Given the description of an element on the screen output the (x, y) to click on. 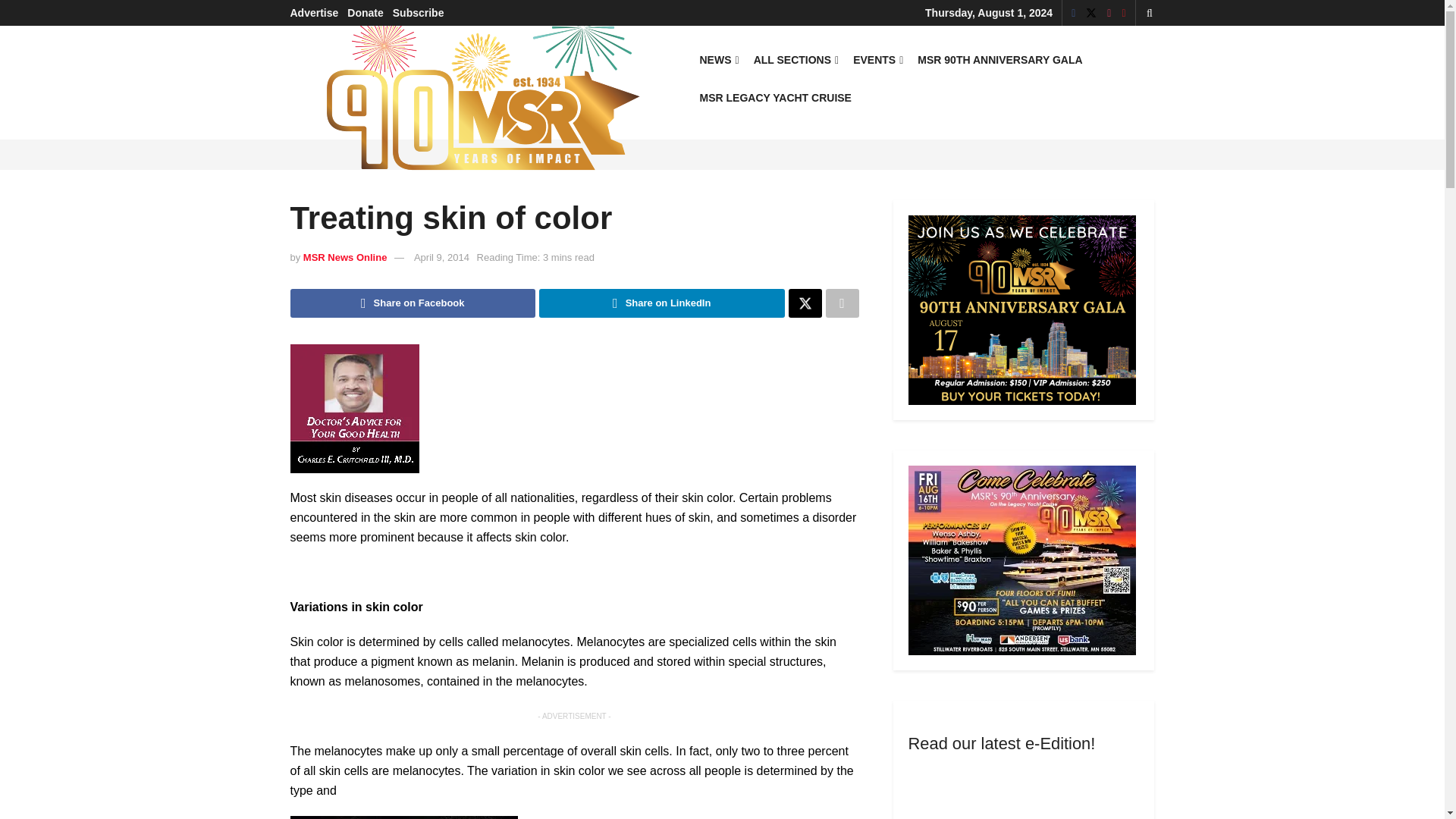
NEWS (717, 59)
Subscribe (418, 12)
Donate (364, 12)
Advertise (313, 12)
ALL SECTIONS (795, 59)
